Given the description of an element on the screen output the (x, y) to click on. 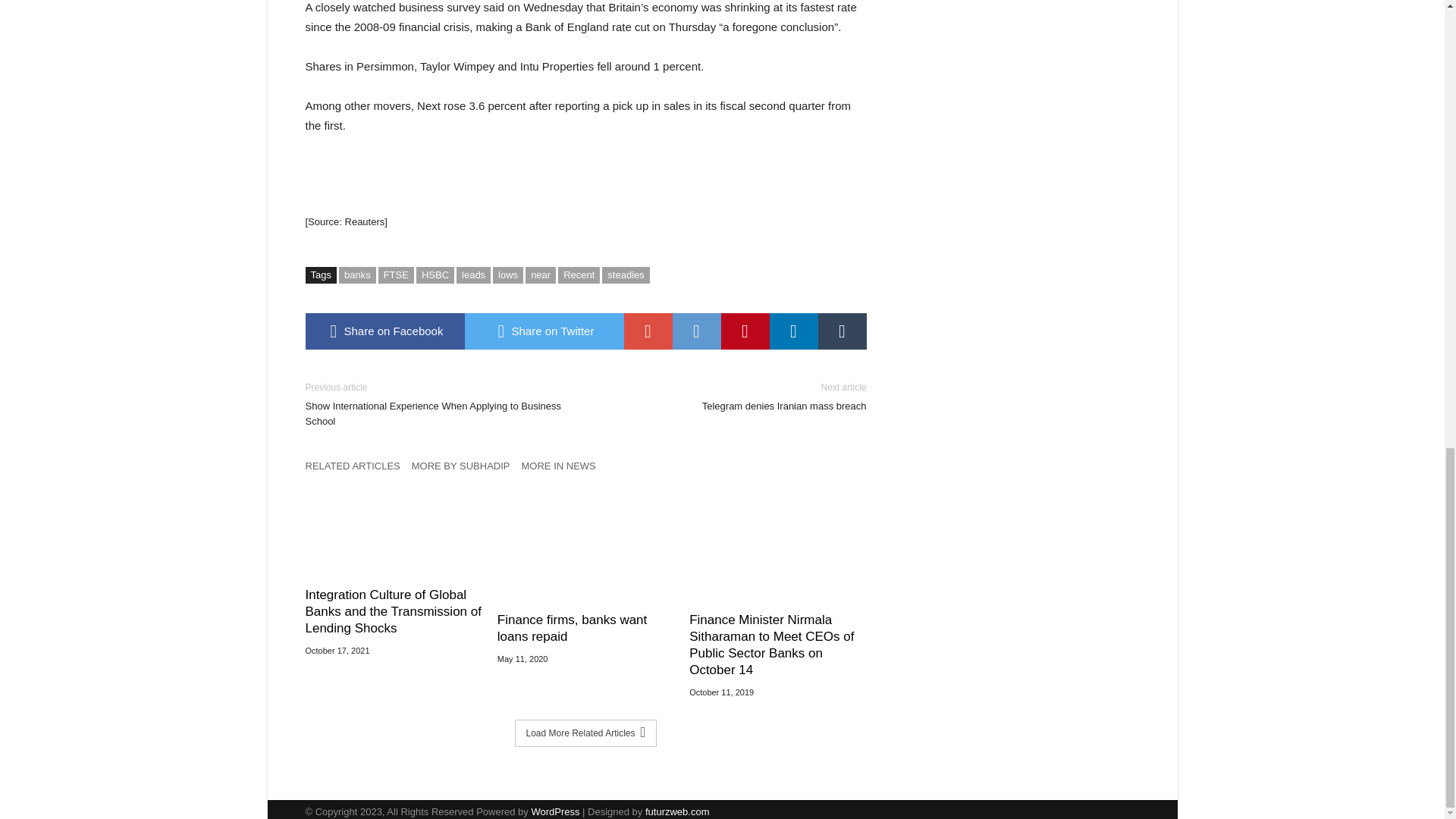
linkedin (792, 330)
Share on Reddit (695, 330)
Share on Twitter (543, 330)
Share on Tumblr (841, 330)
Recent (578, 274)
steadies (625, 274)
facebook (384, 330)
lows (507, 274)
banks (357, 274)
